Given the description of an element on the screen output the (x, y) to click on. 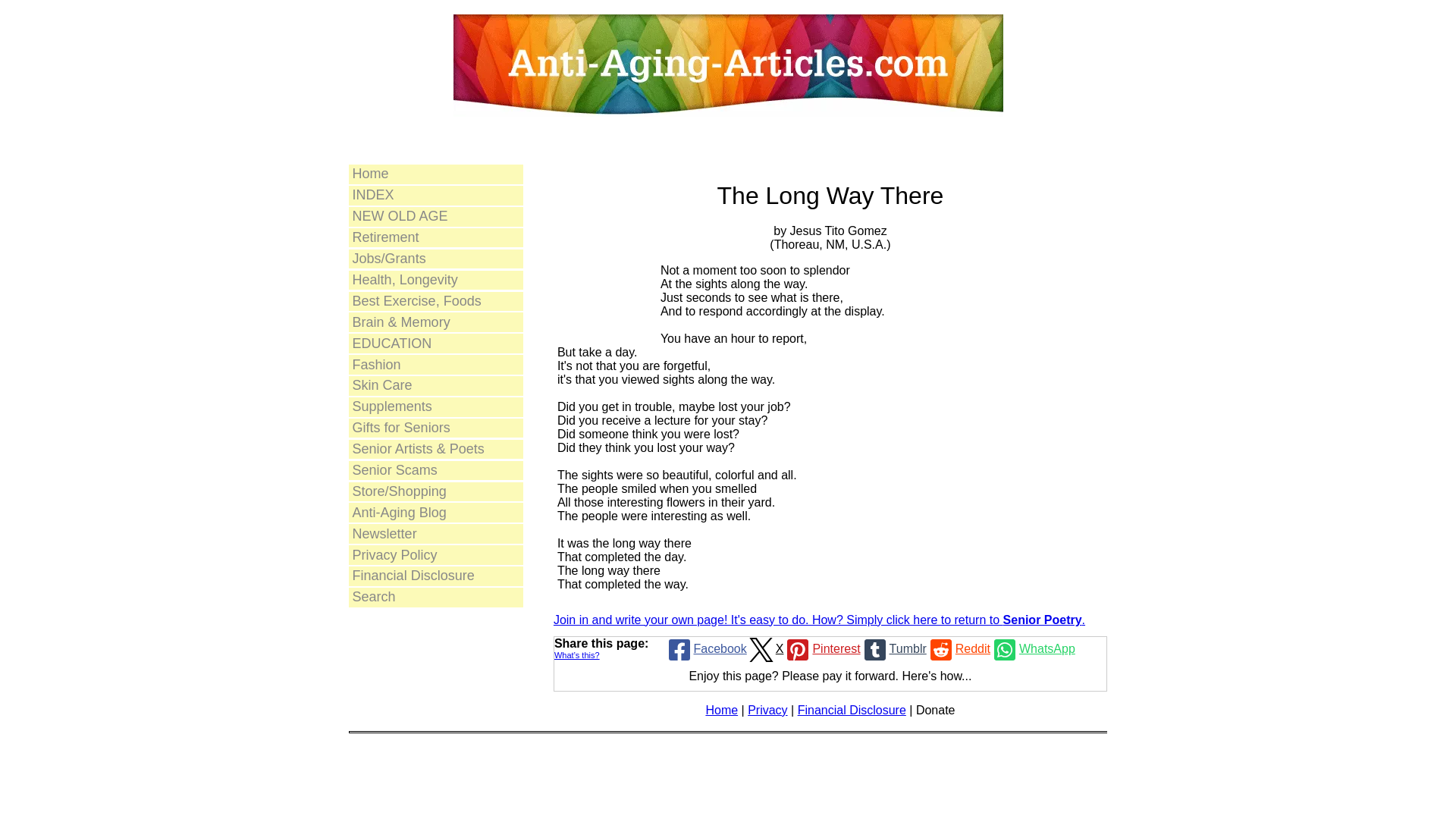
Financial Disclosure (435, 576)
INDEX (435, 195)
Financial Disclosure (851, 709)
Pinterest (821, 649)
Advertisement (602, 291)
Home (435, 174)
Privacy (767, 709)
Retirement (435, 238)
Home (721, 709)
Tumblr (893, 649)
